Given the description of an element on the screen output the (x, y) to click on. 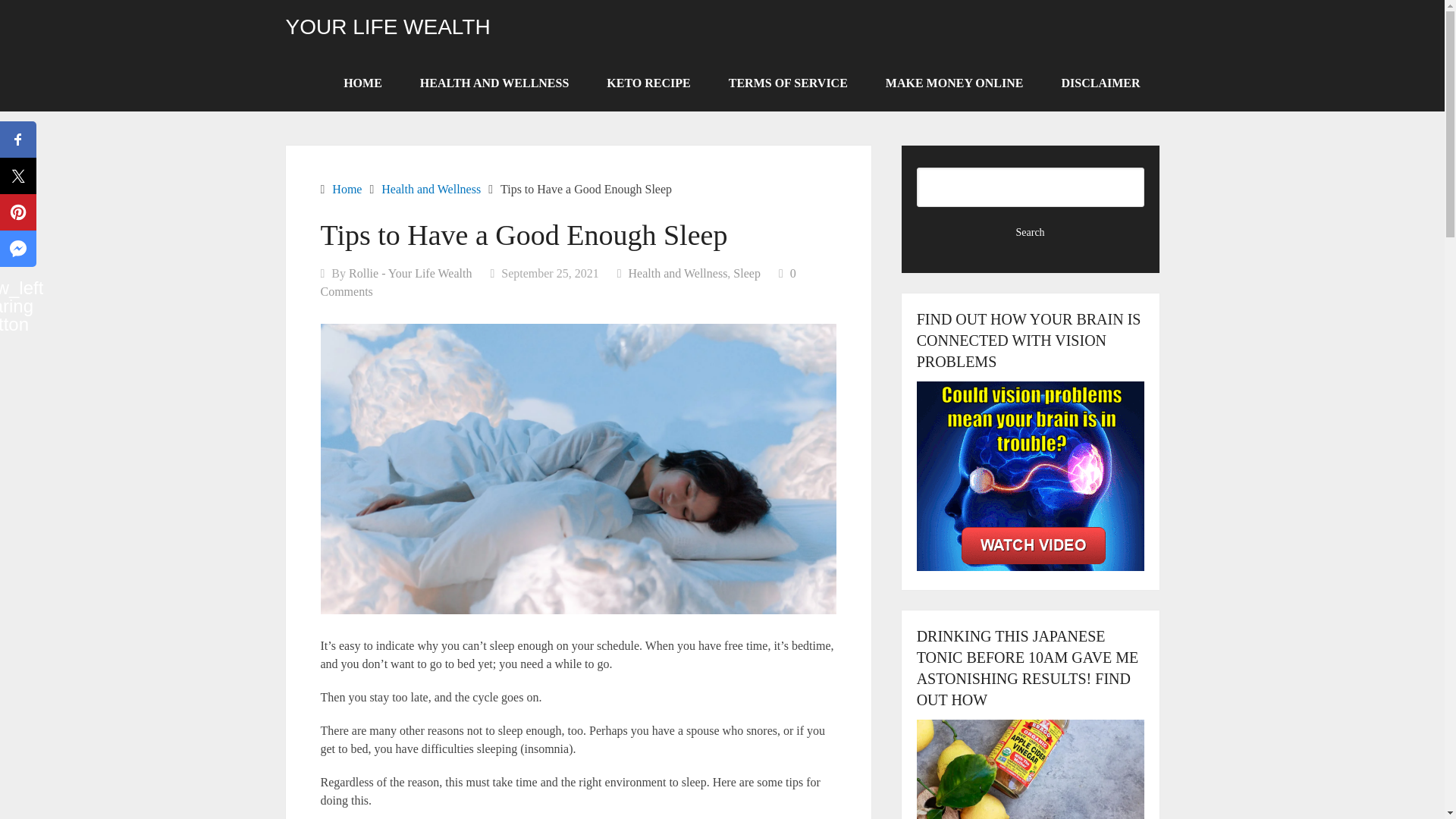
KETO RECIPE (648, 83)
DISCLAIMER (1100, 83)
0 Comments (557, 282)
Search (1030, 232)
Posts by Rollie - Your Life Wealth (410, 273)
Health and Wellness (678, 273)
YOUR LIFE WEALTH (387, 26)
Sleep (746, 273)
MAKE MONEY ONLINE (954, 83)
Home (346, 188)
HOME (362, 83)
Health and Wellness (430, 188)
Rollie - Your Life Wealth (410, 273)
HEALTH AND WELLNESS (494, 83)
